Given the description of an element on the screen output the (x, y) to click on. 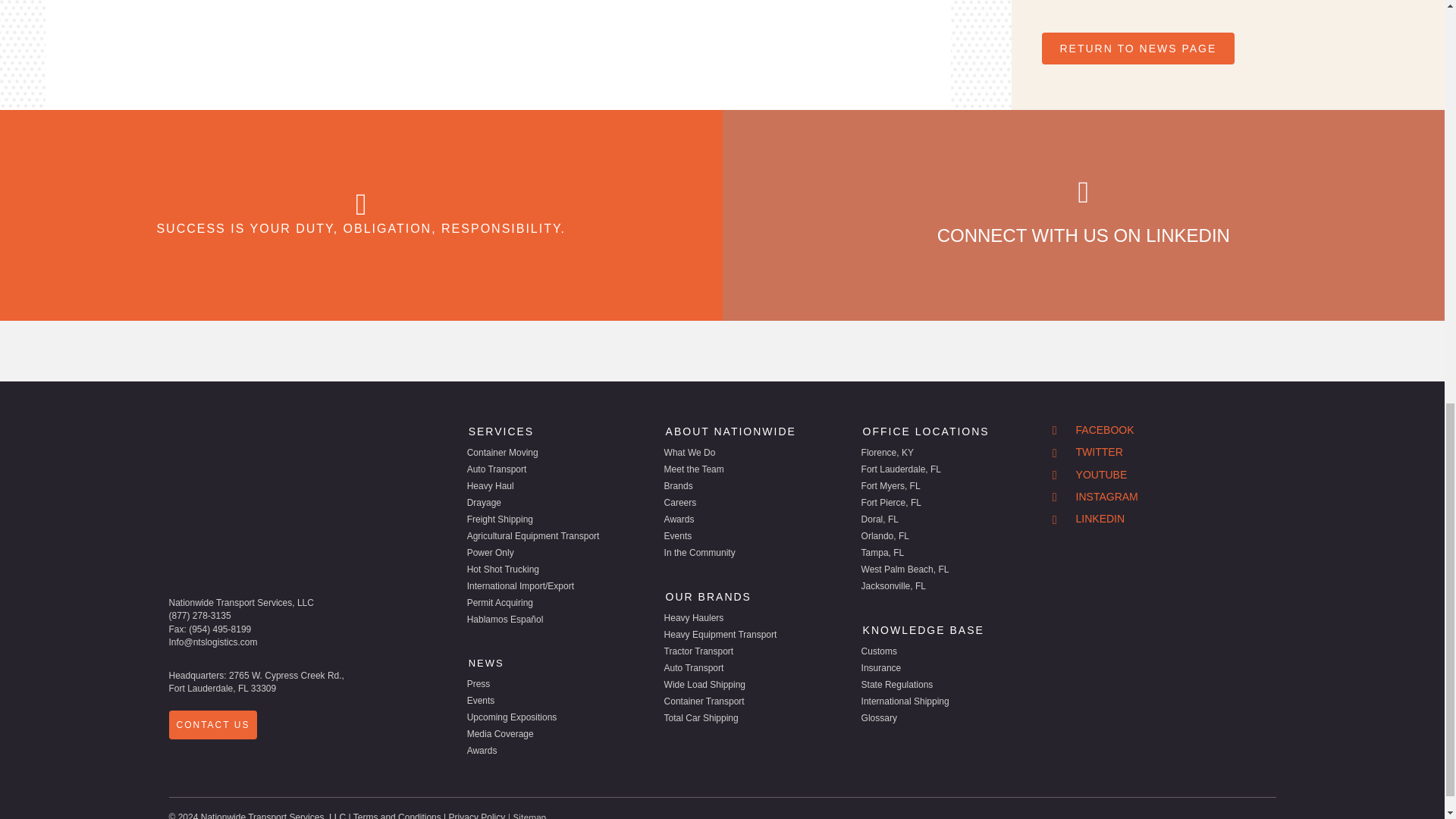
Nationwide Transport Services Logo (244, 490)
